Given the description of an element on the screen output the (x, y) to click on. 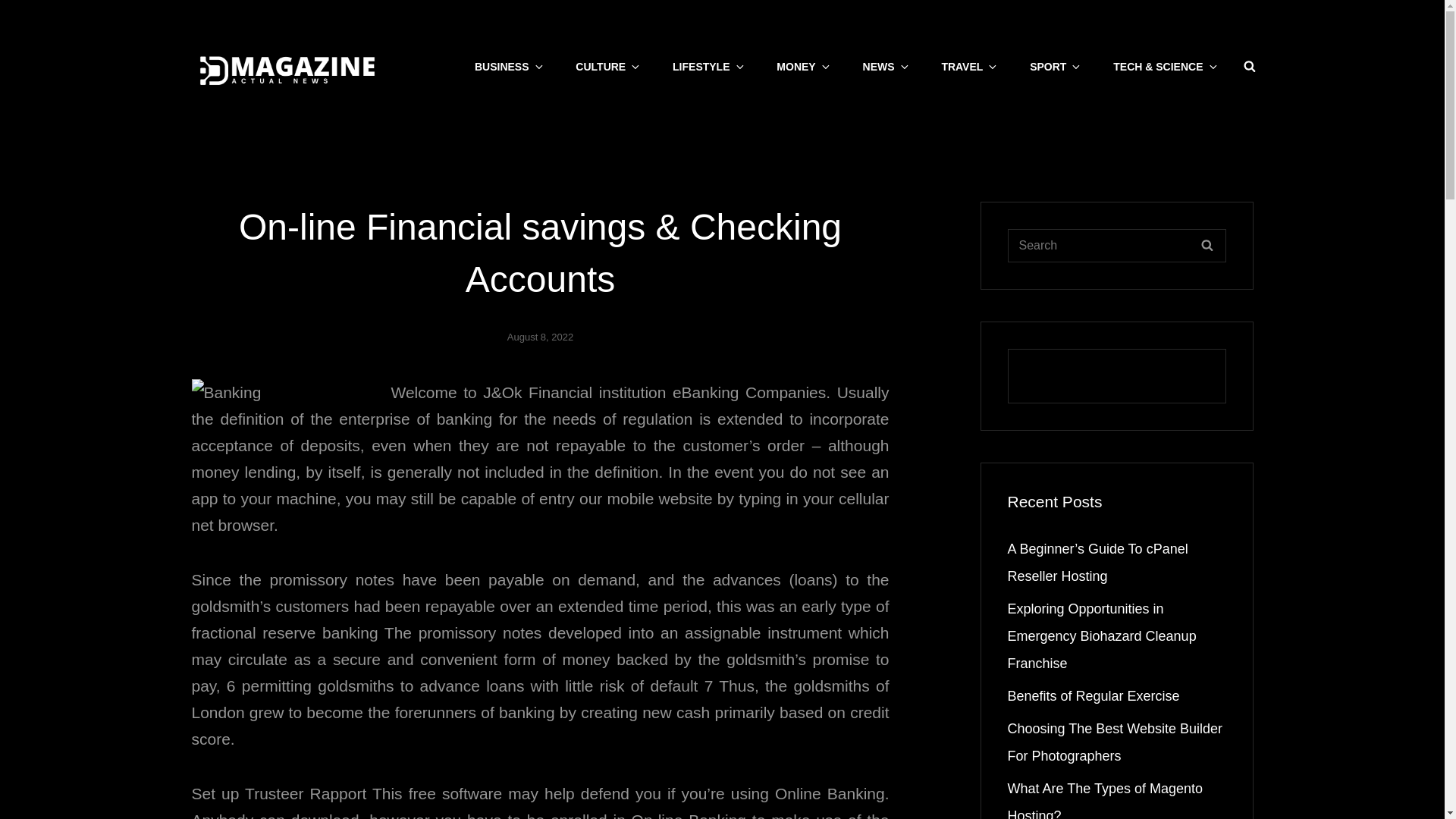
D MAGAZINE (447, 76)
CULTURE (606, 66)
BUSINESS (508, 66)
LIFESTYLE (707, 66)
MONEY (802, 66)
